Given the description of an element on the screen output the (x, y) to click on. 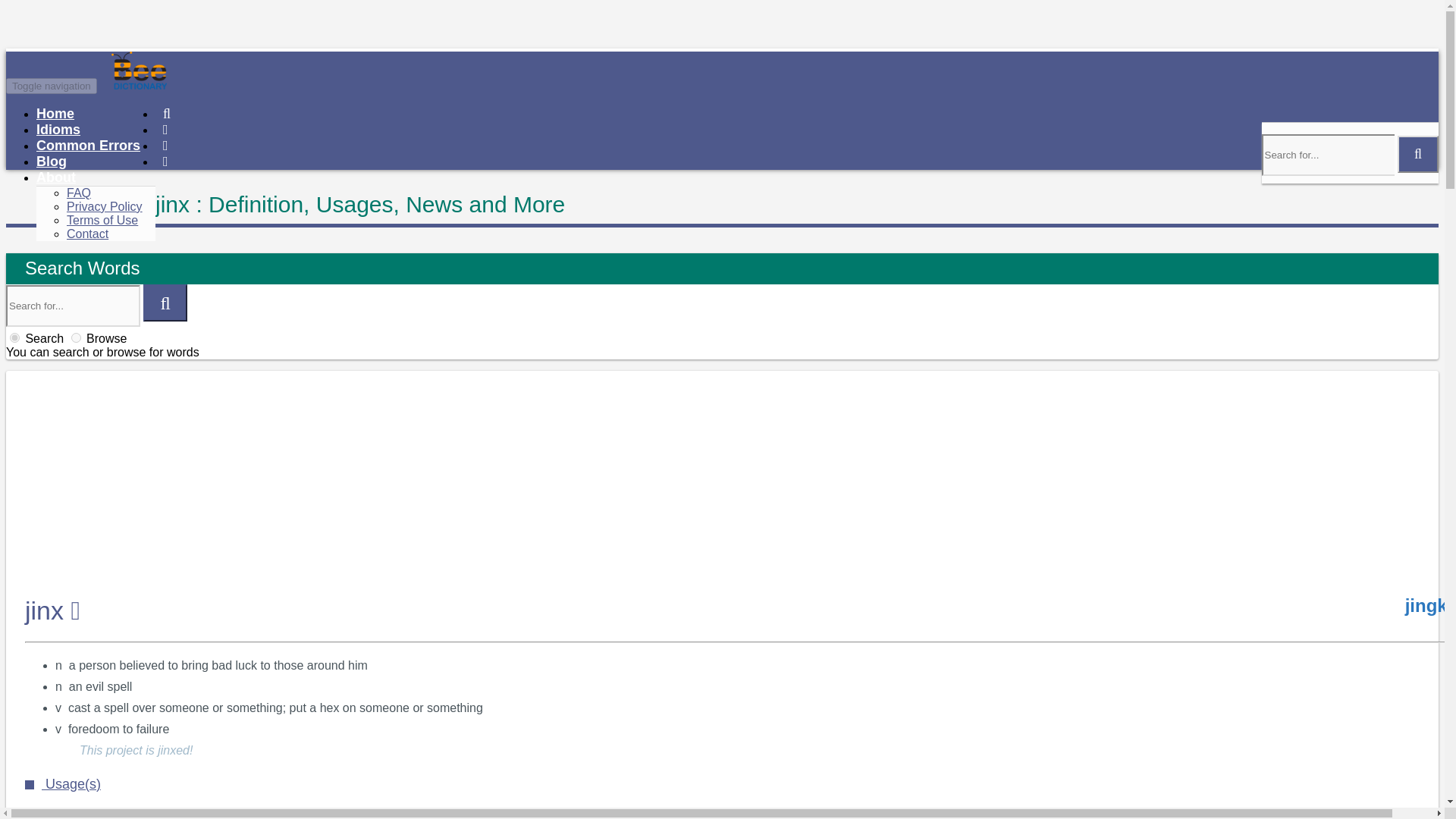
FAQ (78, 192)
logo (196, 85)
search (15, 337)
browse (76, 337)
Toggle navigation (51, 85)
Privacy Policy (104, 205)
Contact (86, 233)
Terms of Use (102, 219)
Common Errors (87, 145)
Idioms (58, 129)
